Given the description of an element on the screen output the (x, y) to click on. 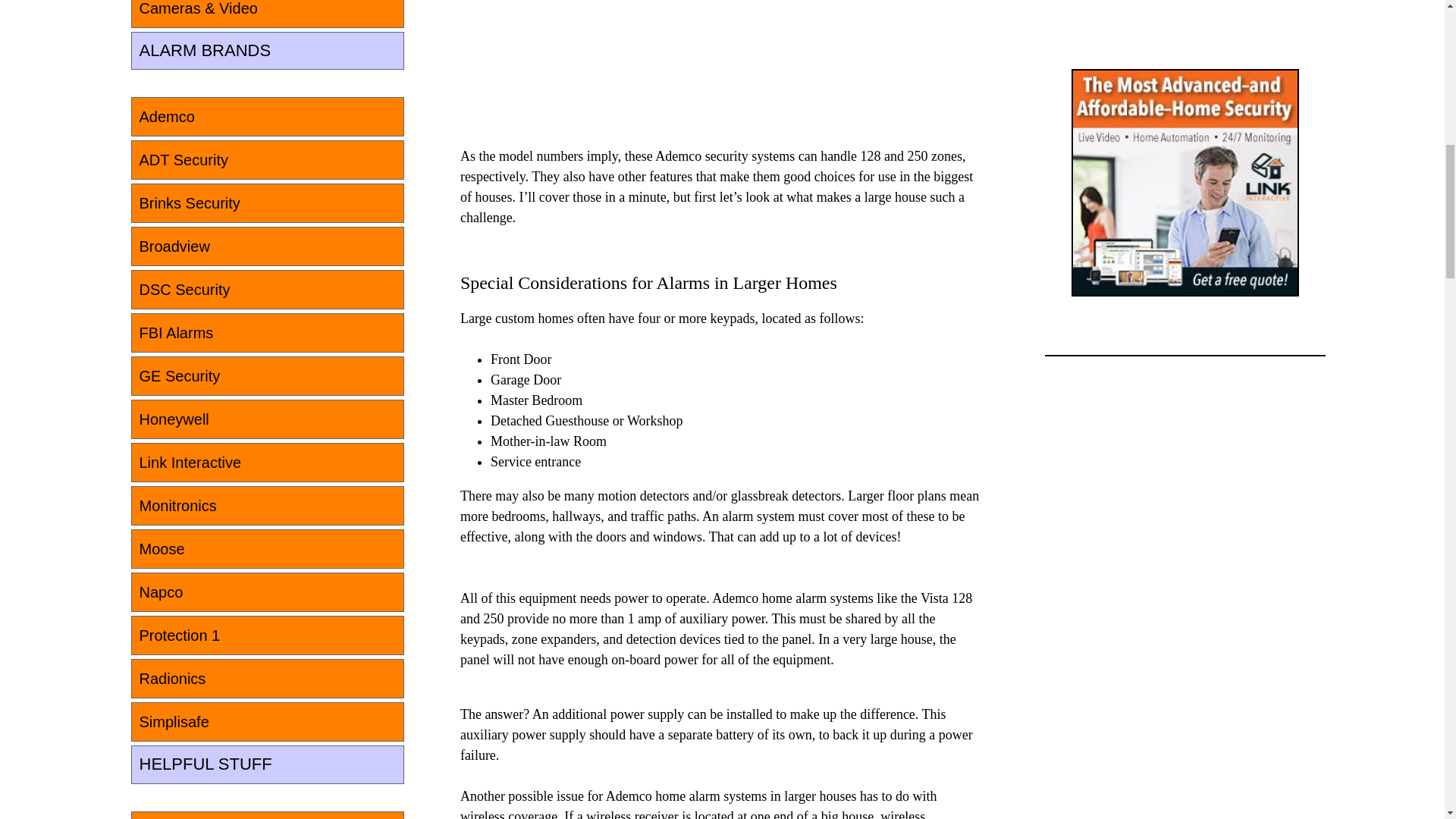
Link Interactive Affordable Security (1184, 181)
Advertisement (573, 53)
